Given the description of an element on the screen output the (x, y) to click on. 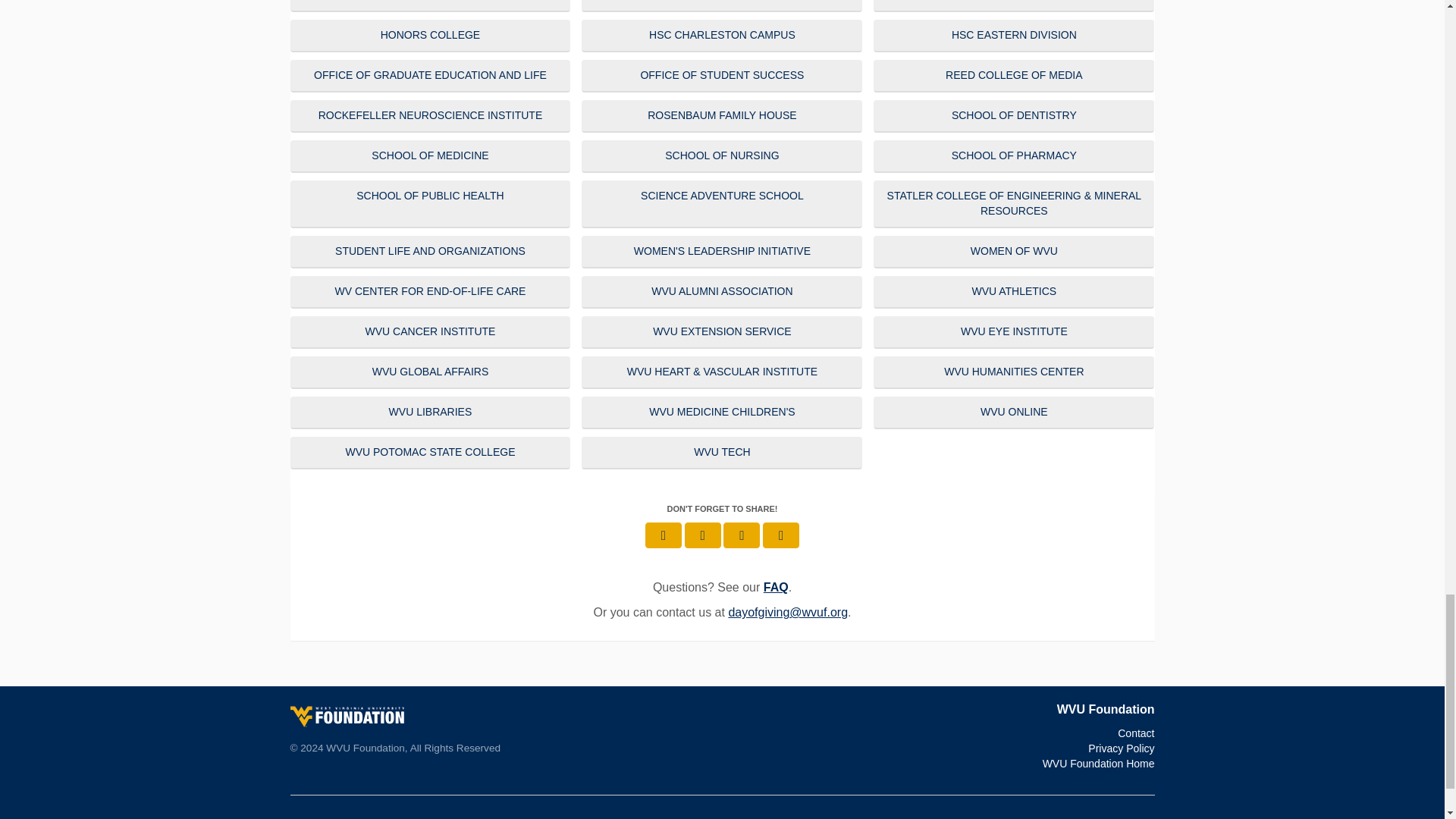
OFFICE OF STUDENT SUCCESS (720, 75)
HSC EASTERN DIVISION (1013, 35)
Share Plain (780, 534)
REED COLLEGE OF MEDIA (1013, 75)
Share on X (702, 534)
EBERLY COLLEGE OF ARTS AND SCIENCES (720, 6)
OFFICE OF GRADUATE EDUCATION AND LIFE (429, 75)
HSC CHARLESTON CAMPUS (720, 35)
HONORS COLLEGE (429, 35)
GRATEFUL PATIENTS, FAMILIES, AND FRIENDS PROGRAM (1013, 6)
